Given the description of an element on the screen output the (x, y) to click on. 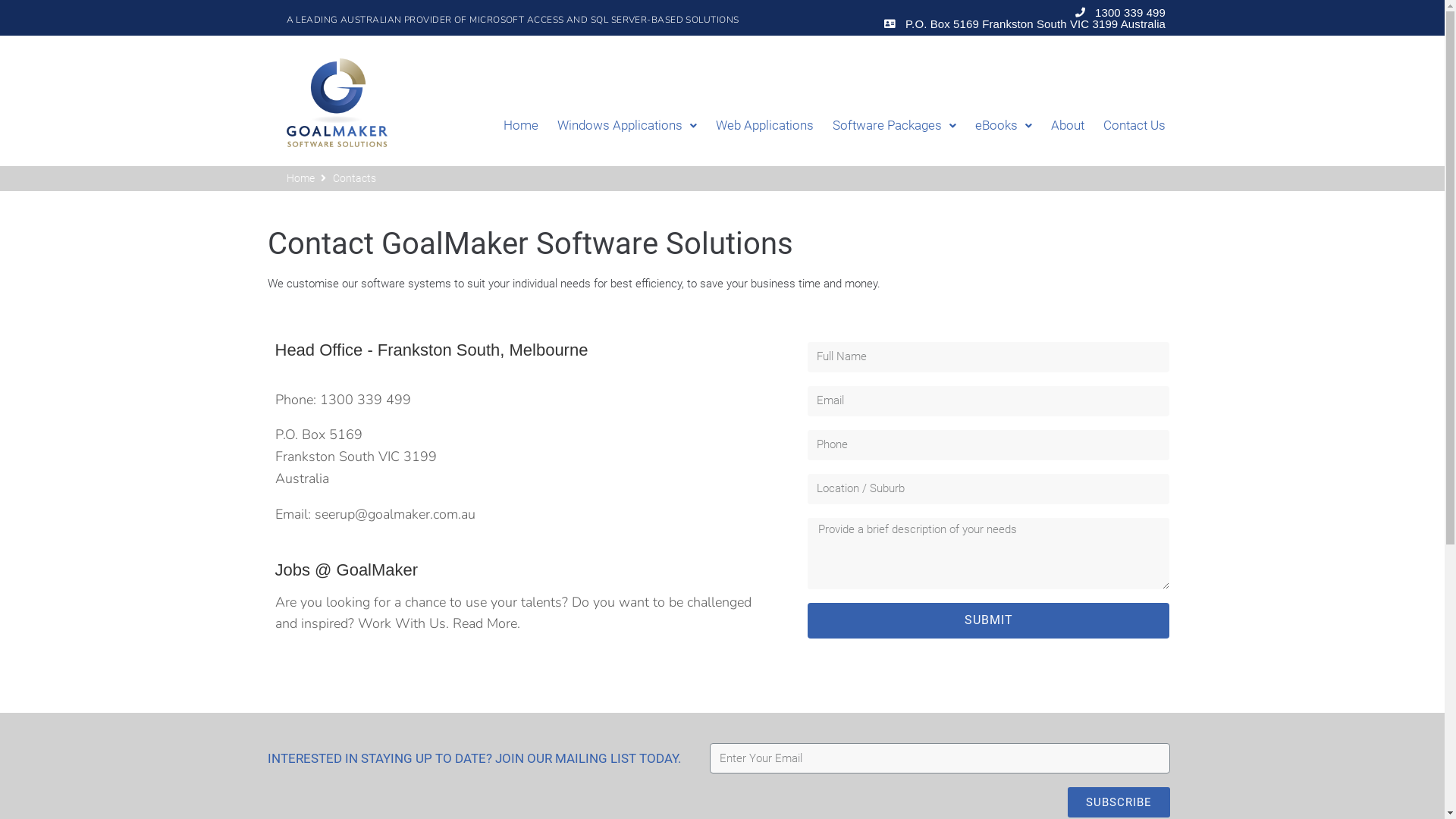
Web Applications Element type: text (754, 125)
Windows Applications Element type: text (617, 125)
Read More. Element type: text (485, 623)
eBooks Element type: text (994, 125)
1300 339 499 Element type: text (365, 399)
Contact Us Element type: text (1124, 125)
1300 339 499 Element type: text (1119, 11)
SUBSCRIBE Element type: text (1118, 802)
Software Packages Element type: text (884, 125)
seerup@goalmaker.com.au Element type: text (393, 514)
Home Element type: text (300, 177)
Home Element type: text (511, 125)
About Element type: text (1058, 125)
SUBMIT Element type: text (988, 620)
